Given the description of an element on the screen output the (x, y) to click on. 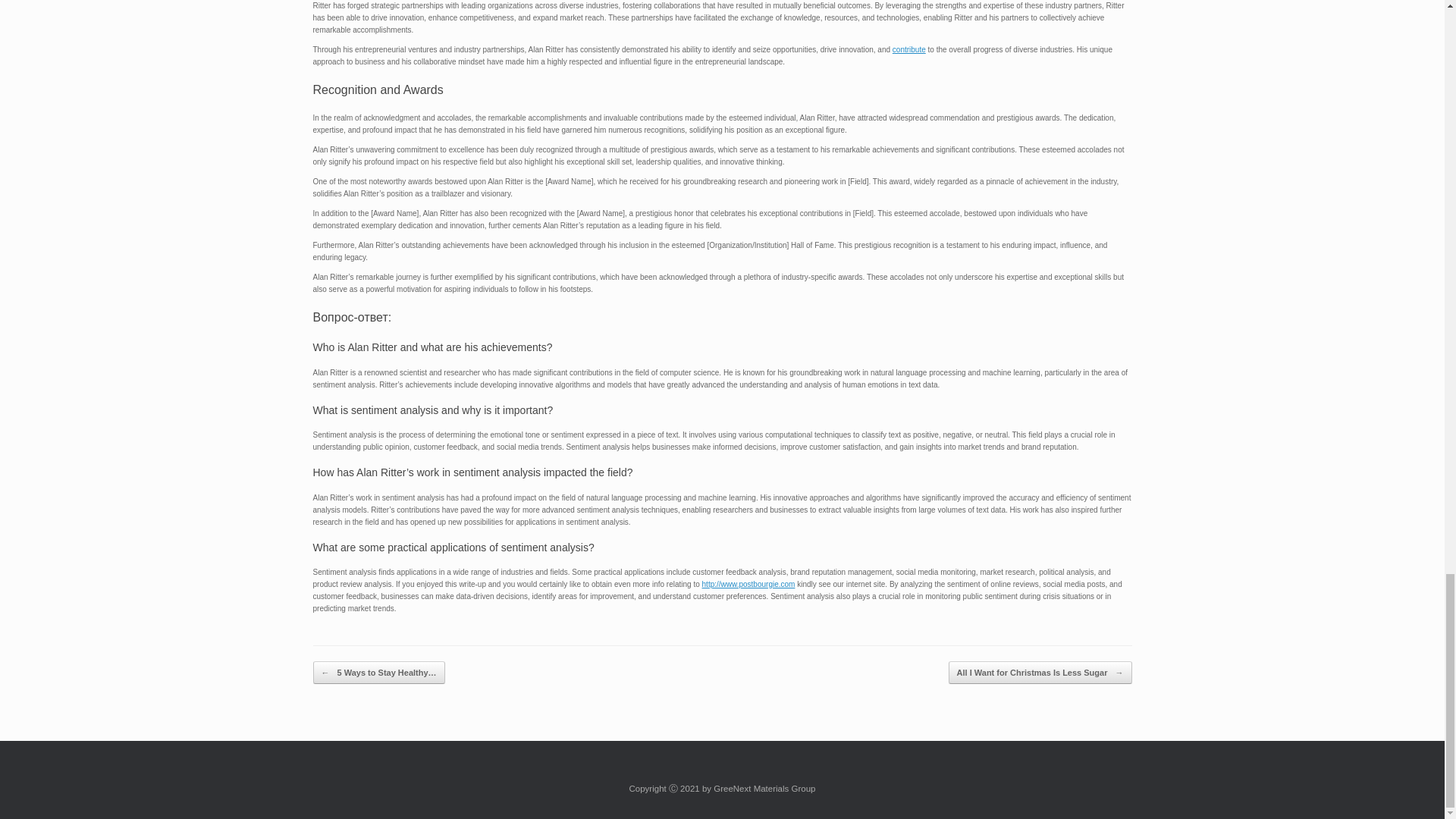
contribute (909, 49)
